Given the description of an element on the screen output the (x, y) to click on. 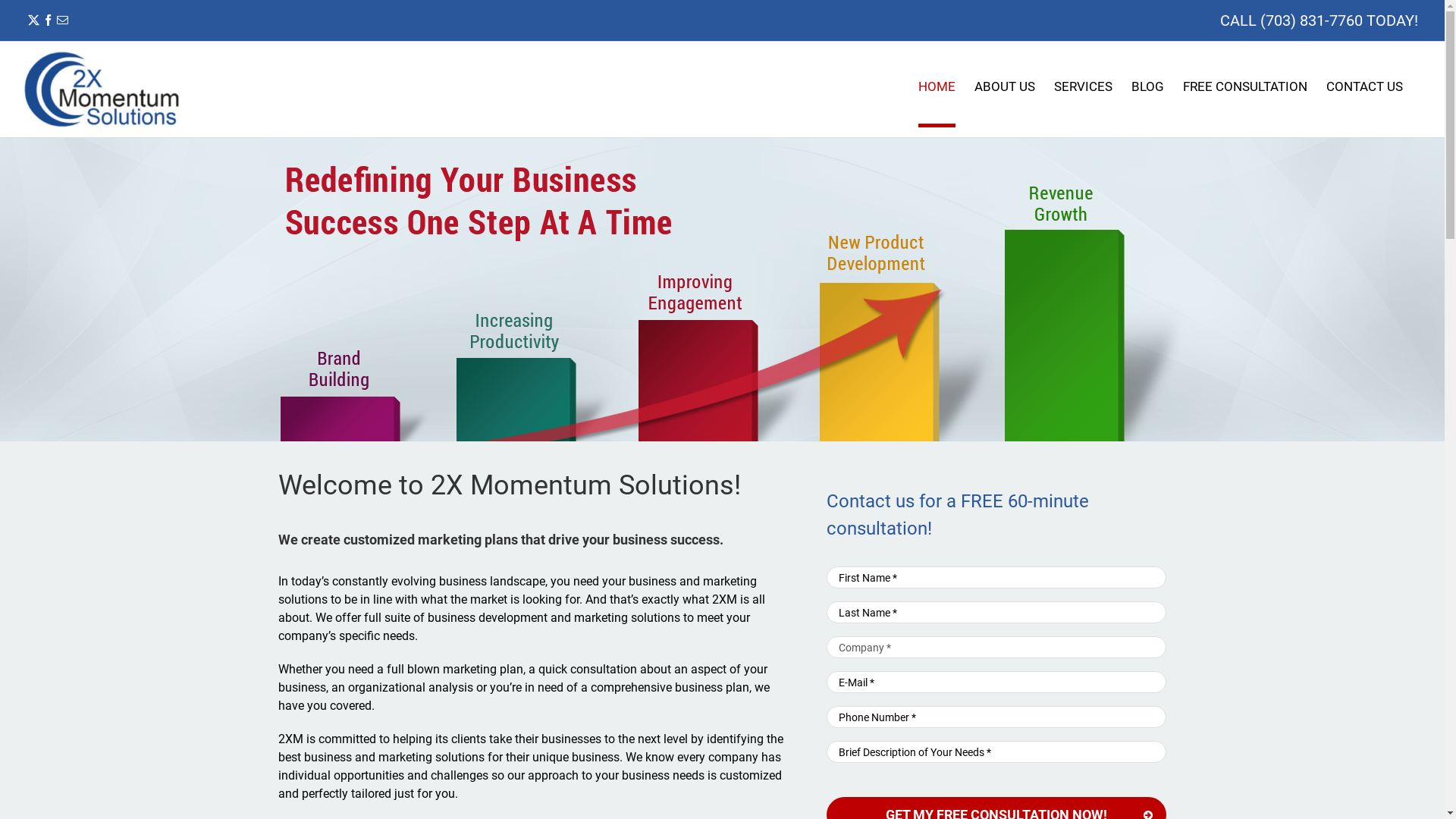
FREE CONSULTATION Element type: text (1245, 88)
BLOG Element type: text (1147, 88)
Email Element type: text (62, 19)
ABOUT US Element type: text (1004, 88)
Twitter Element type: text (33, 19)
CONTACT US Element type: text (1364, 88)
HOME Element type: text (936, 88)
Facebook Element type: text (47, 19)
SERVICES Element type: text (1083, 88)
